Given the description of an element on the screen output the (x, y) to click on. 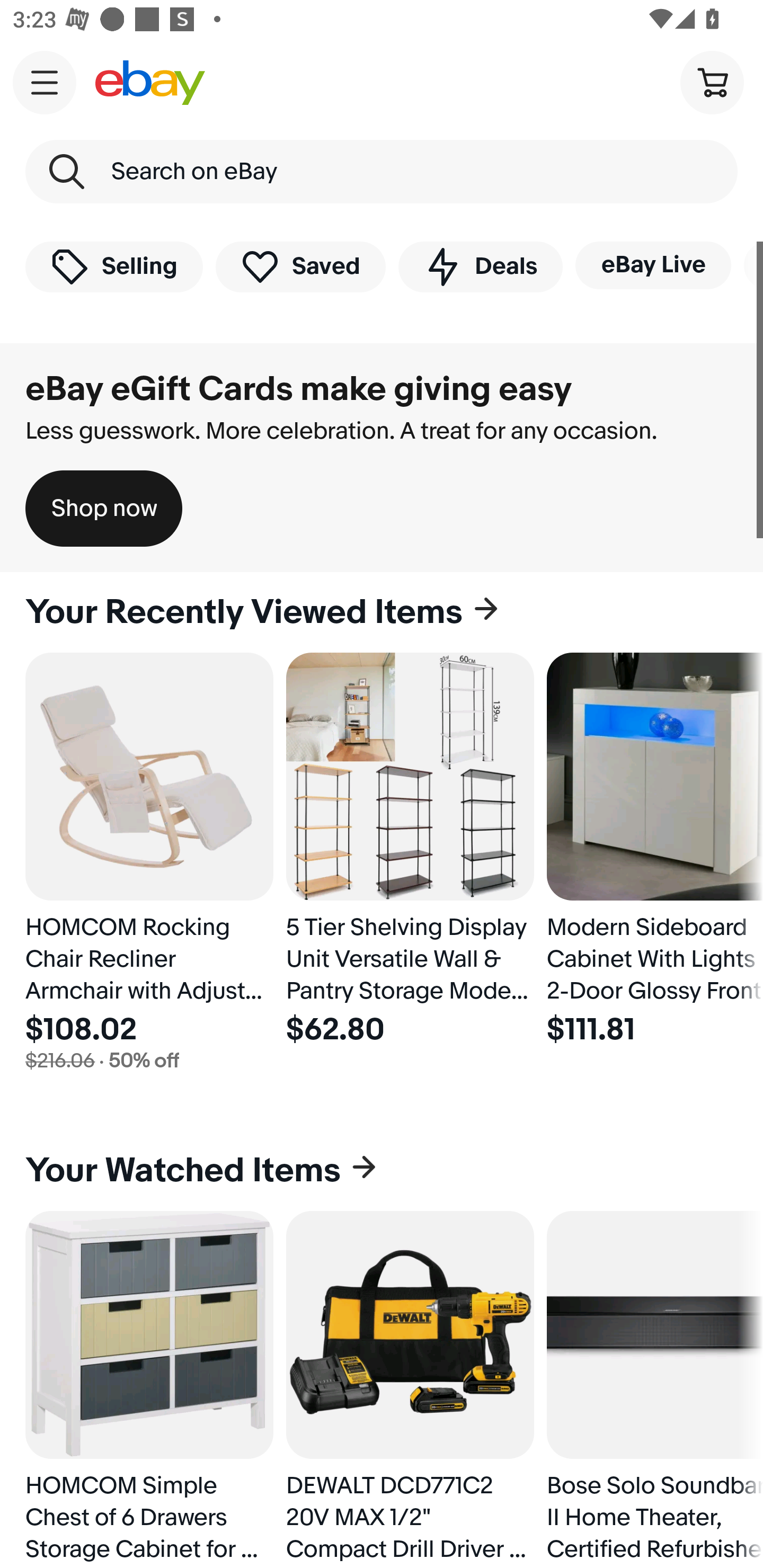
Main navigation, open (44, 82)
Cart button shopping cart (711, 81)
Search on eBay Search Keyword Search on eBay (381, 171)
Selling (113, 266)
Saved (300, 266)
Deals (480, 266)
eBay Live (652, 264)
eBay eGift Cards make giving easy (298, 389)
Shop now (103, 508)
Your Recently Viewed Items   (381, 612)
Your Watched Items   (381, 1170)
